Given the description of an element on the screen output the (x, y) to click on. 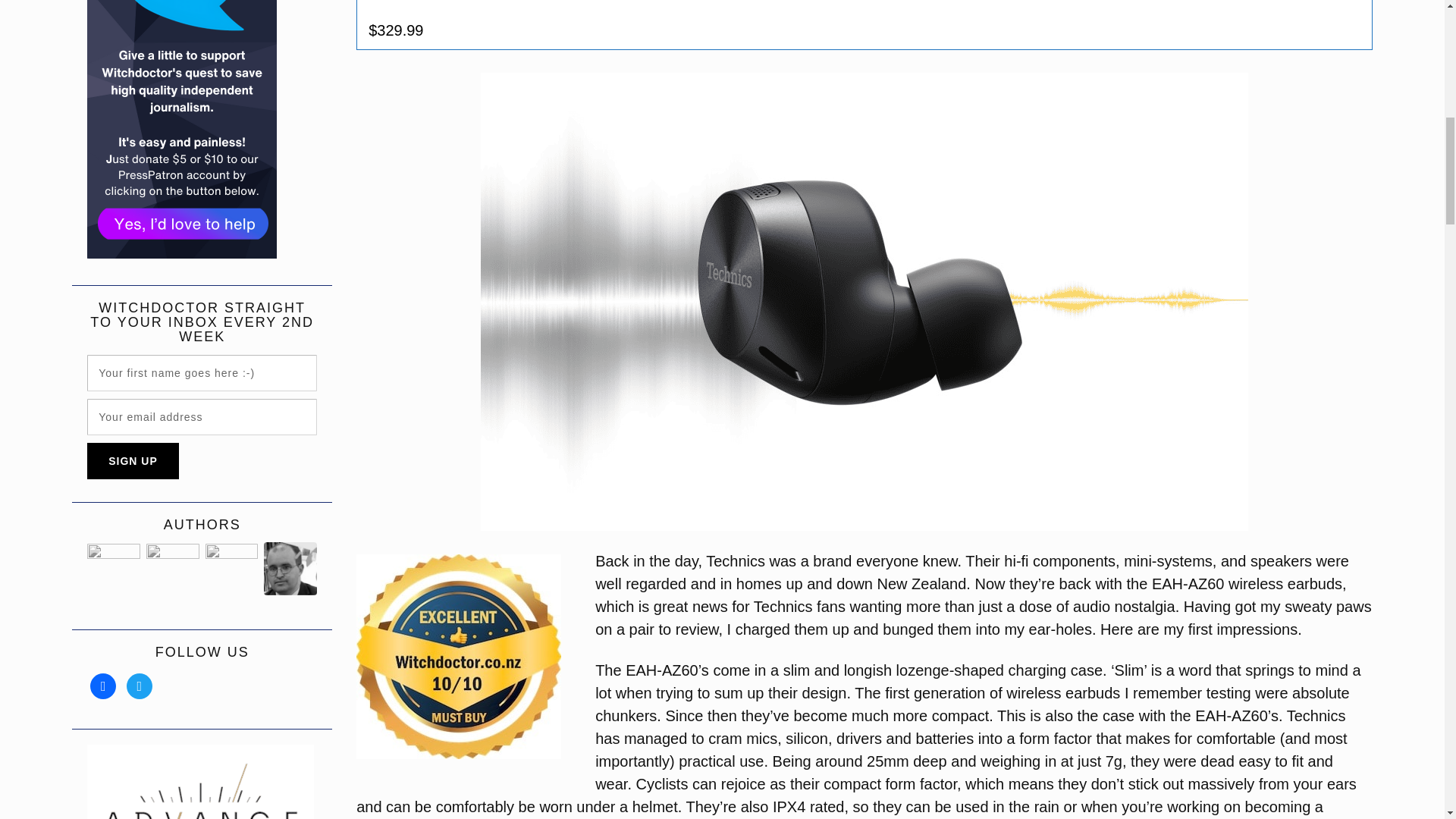
Matthew Kelly (290, 568)
X (139, 686)
Gary Steel (113, 568)
AshK (232, 568)
Facebook (103, 686)
Pat Pilcher (173, 568)
Sign up (1396, 22)
